Given the description of an element on the screen output the (x, y) to click on. 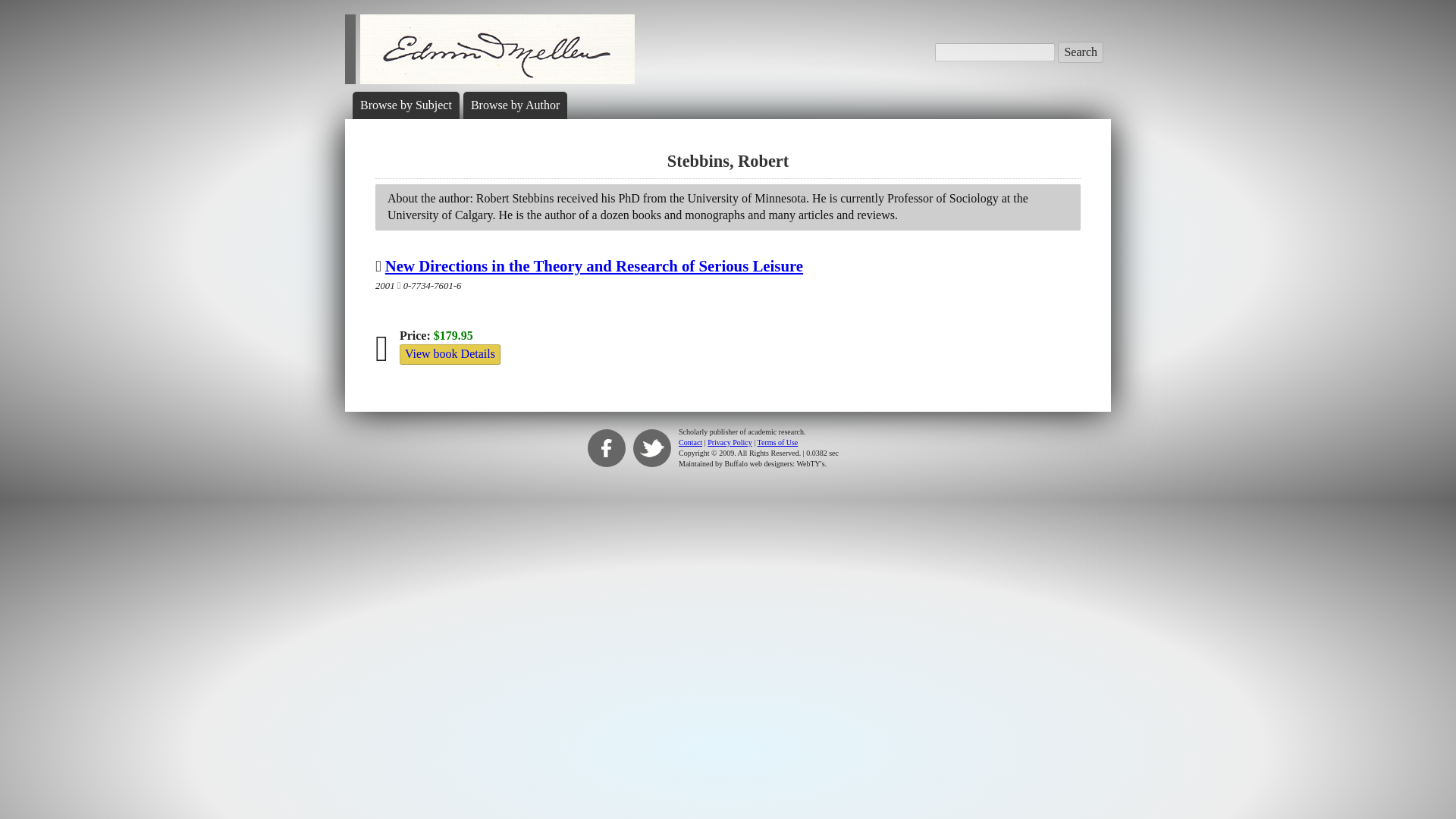
Privacy Policy (729, 442)
View book Details (449, 353)
Terms of Use (777, 442)
New Directions in the Theory and Research of Serious Leisure (594, 265)
Browse by Author (514, 105)
Buffalo web designers: WebTY's (775, 463)
Search (1080, 52)
View book Details (449, 353)
Browse by Subject (405, 105)
Contact (689, 442)
